Given the description of an element on the screen output the (x, y) to click on. 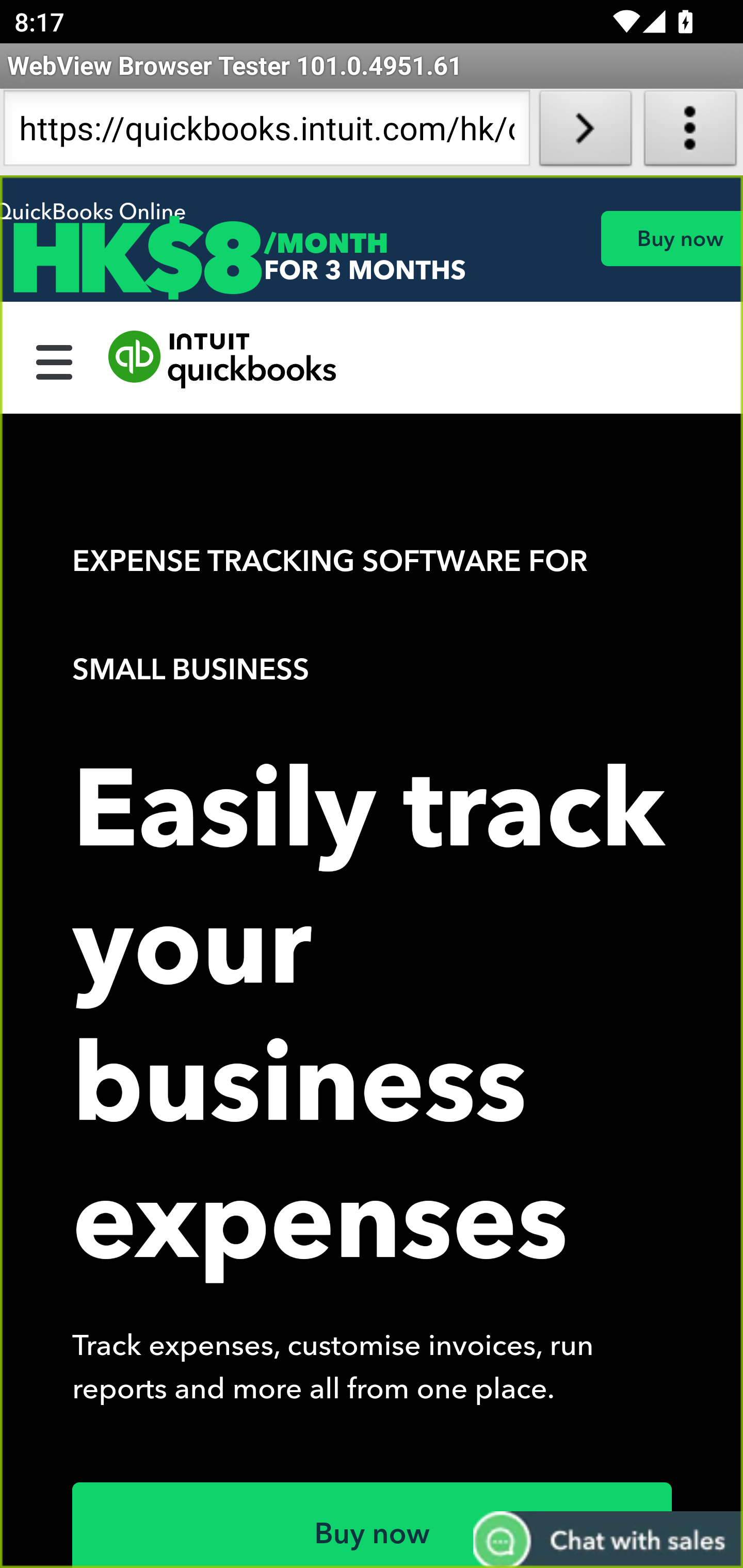
Load URL (585, 132)
About WebView (690, 132)
Buy now (671, 238)
quickbooks-mobile-burger (54, 359)
quickbooks (222, 359)
Buy now (372, 1524)
